Given the description of an element on the screen output the (x, y) to click on. 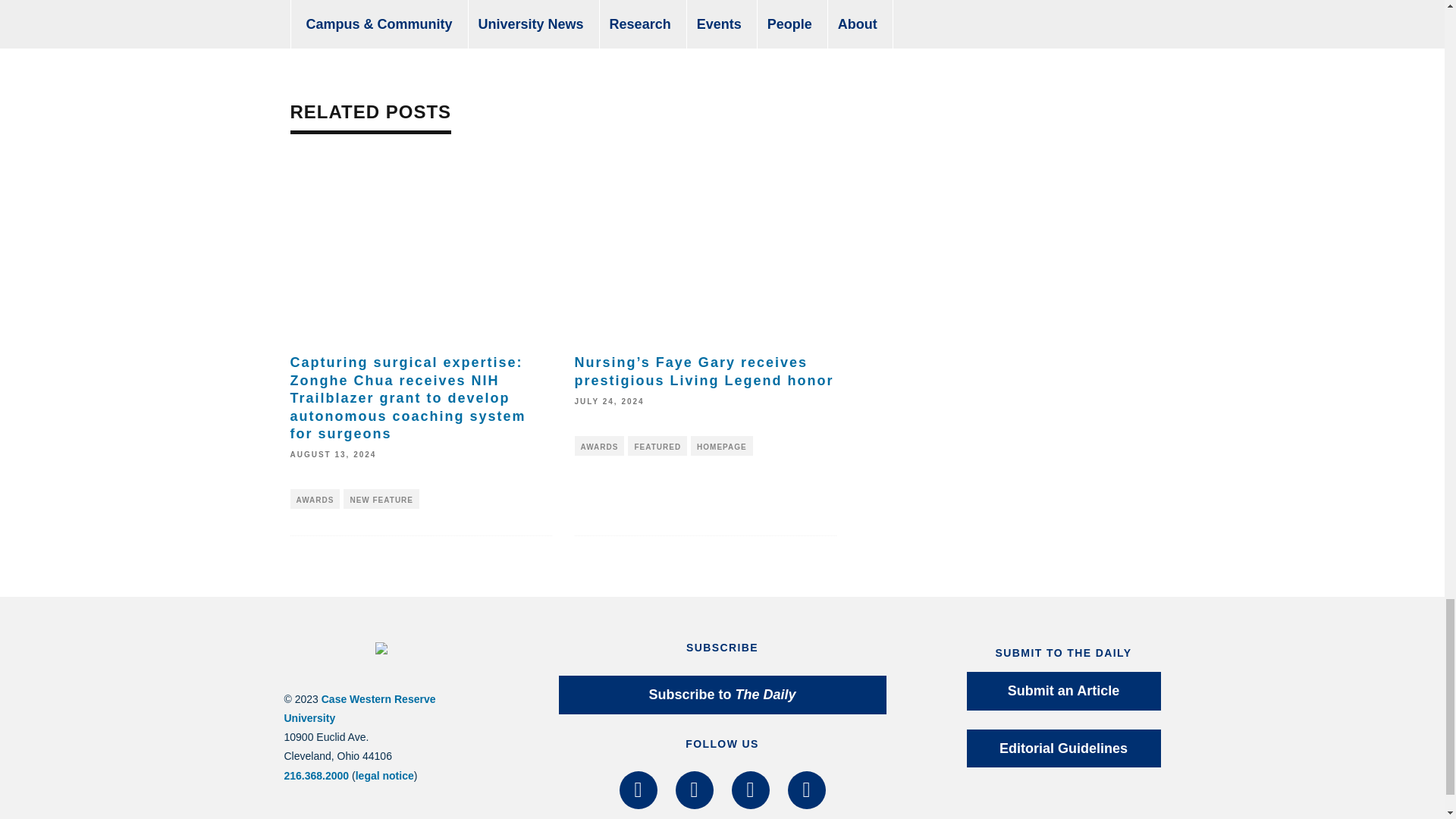
NEW FEATURE (381, 498)
AWARDS (599, 445)
HOMEPAGE (721, 445)
AWARDS (314, 498)
FEATURED (657, 445)
